Given the description of an element on the screen output the (x, y) to click on. 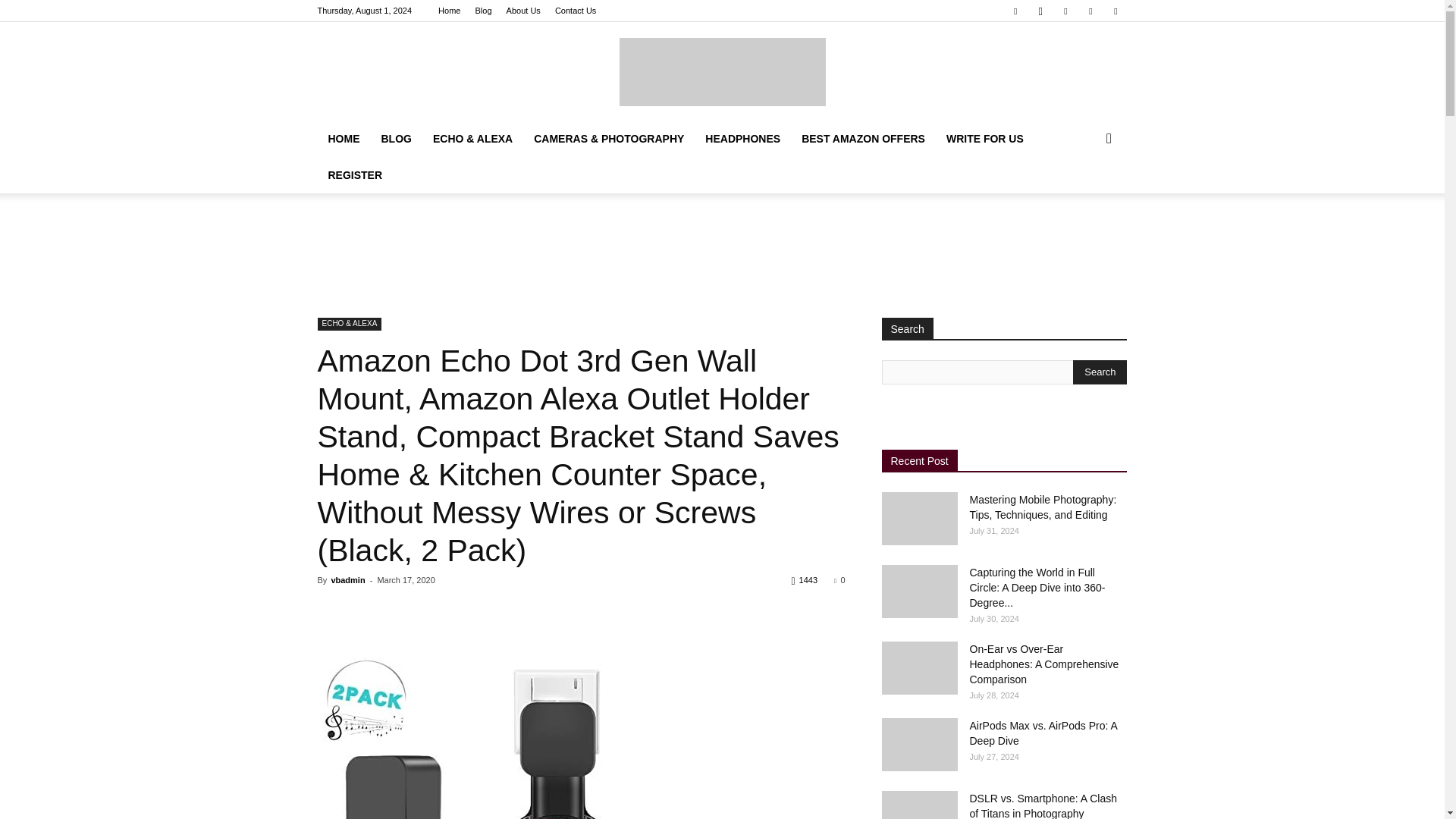
Contact Us (574, 10)
Instagram (1040, 10)
HOME (343, 138)
Twitter (1114, 10)
Shops On Amazon (721, 71)
Facebook (1015, 10)
Pinterest (1065, 10)
Home (449, 10)
Telegram (1090, 10)
Blog (484, 10)
BLOG (395, 138)
HEADPHONES (742, 138)
Search (1099, 372)
About Us (523, 10)
SHOPS ON AMAZON (721, 71)
